Given the description of an element on the screen output the (x, y) to click on. 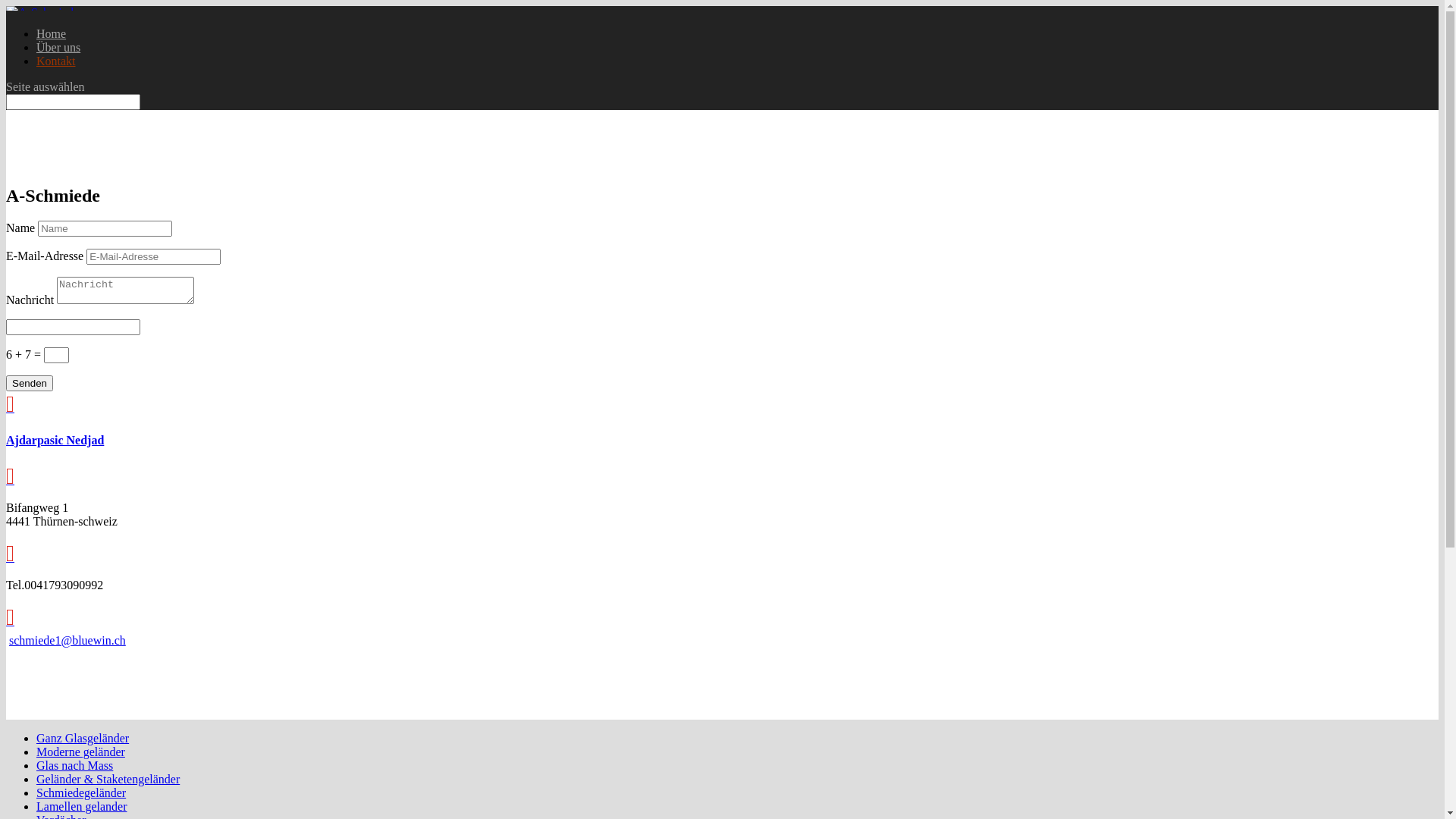
Kontakt Element type: text (55, 60)
Home Element type: text (50, 33)
schmiede1@bluewin.ch Element type: text (67, 639)
Lamellen gelander Element type: text (81, 806)
Glas nach Mass Element type: text (74, 765)
Senden Element type: text (29, 383)
Suchen nach: Element type: hover (73, 101)
Ajdarpasic Nedjad Element type: text (54, 439)
